Given the description of an element on the screen output the (x, y) to click on. 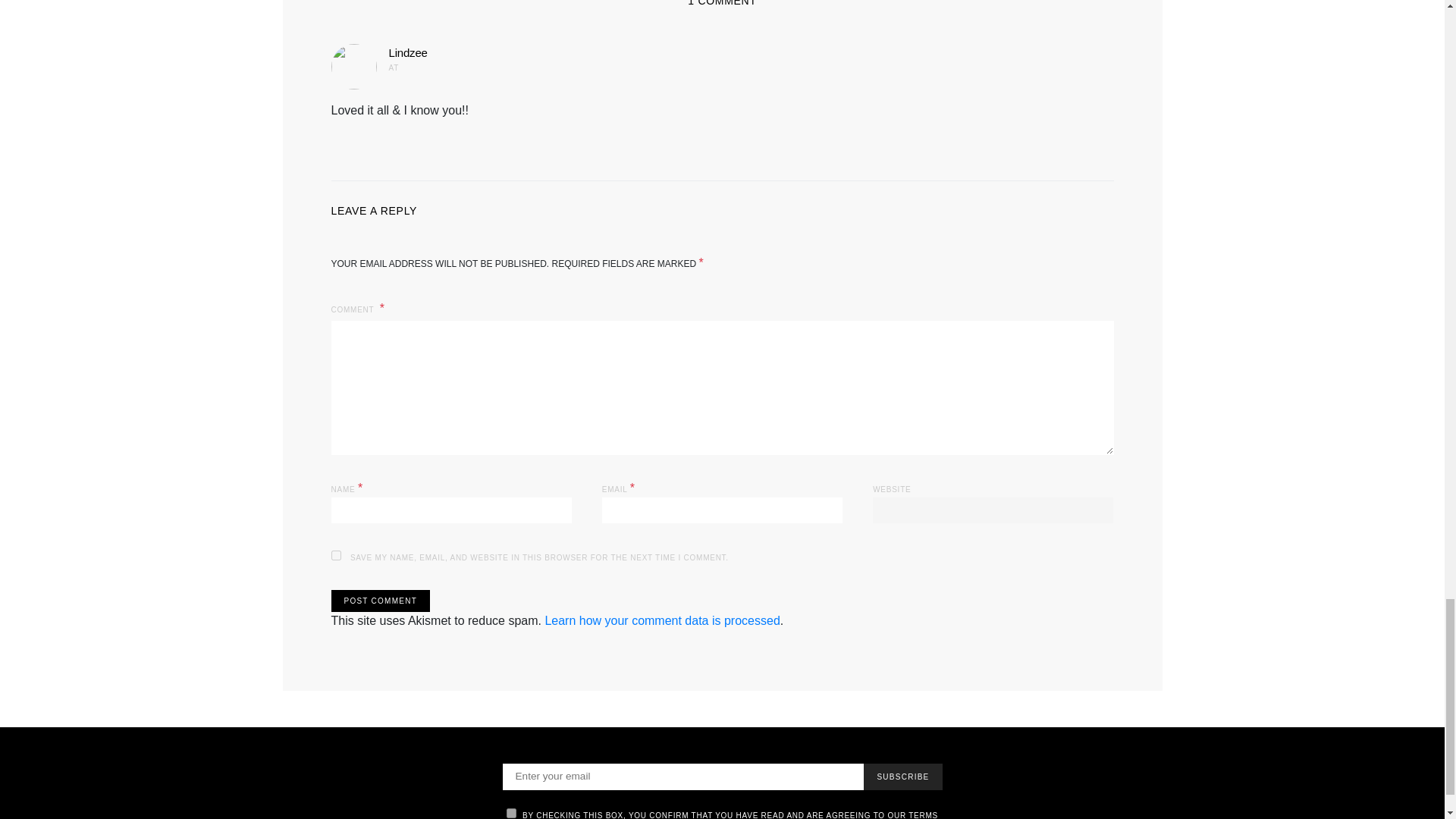
on (511, 813)
Post Comment (379, 600)
yes (335, 555)
